Given the description of an element on the screen output the (x, y) to click on. 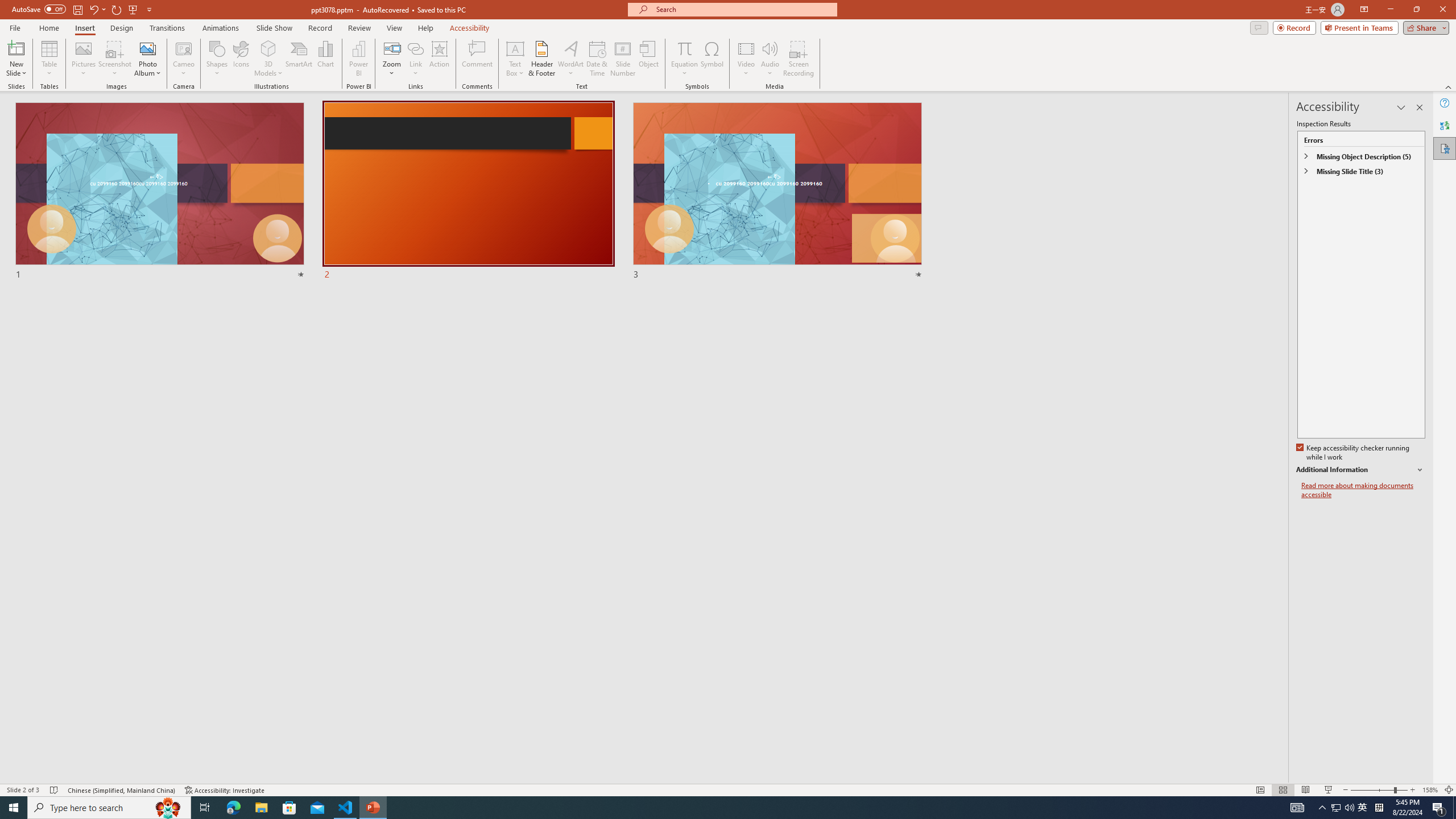
Icons (240, 58)
Action (439, 58)
SmartArt... (298, 58)
Draw Horizontal Text Box (515, 48)
New Photo Album... (147, 48)
